Given the description of an element on the screen output the (x, y) to click on. 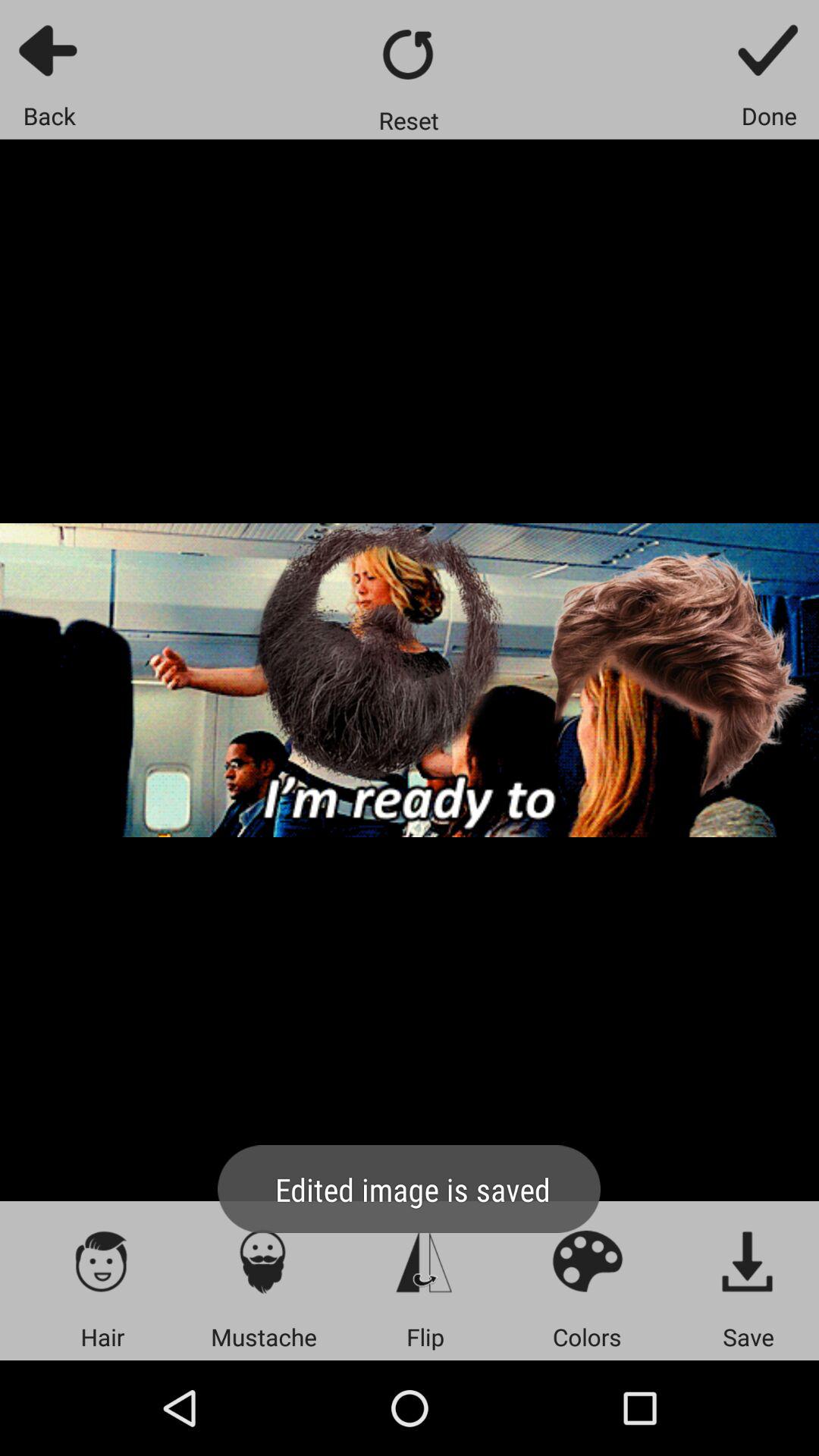
reset (408, 54)
